Given the description of an element on the screen output the (x, y) to click on. 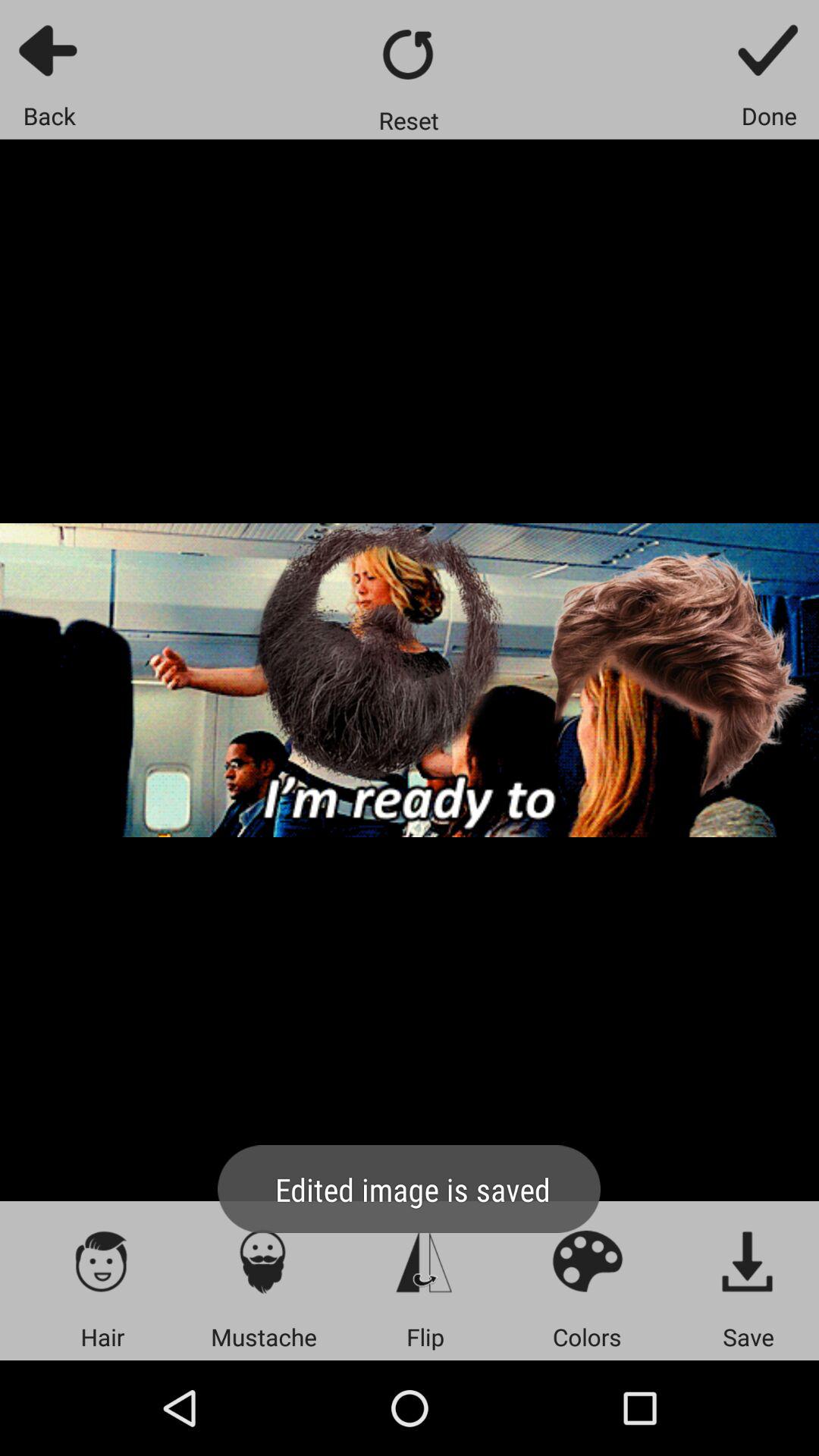
reset (408, 54)
